Given the description of an element on the screen output the (x, y) to click on. 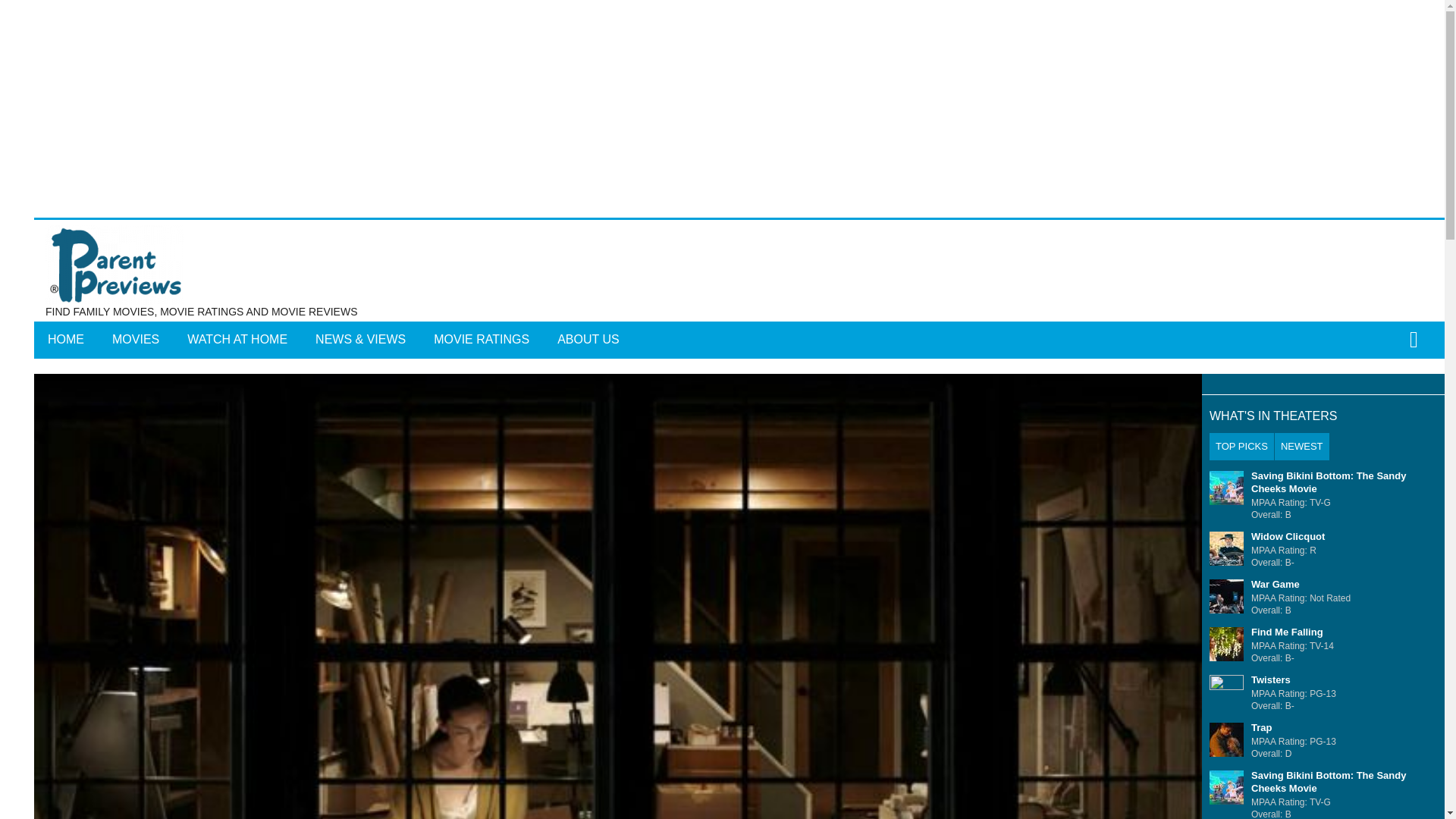
HOME (65, 339)
NEWEST (1302, 446)
ABOUT US (588, 339)
War Game (1275, 583)
MOVIE RATINGS (481, 339)
WATCH AT HOME (237, 339)
MOVIES (136, 339)
Search (763, 349)
TOP PICKS (1241, 446)
Widow Clicquot (1287, 536)
Saving Bikini Bottom: The Sandy Cheeks Movie (1328, 482)
